Given the description of an element on the screen output the (x, y) to click on. 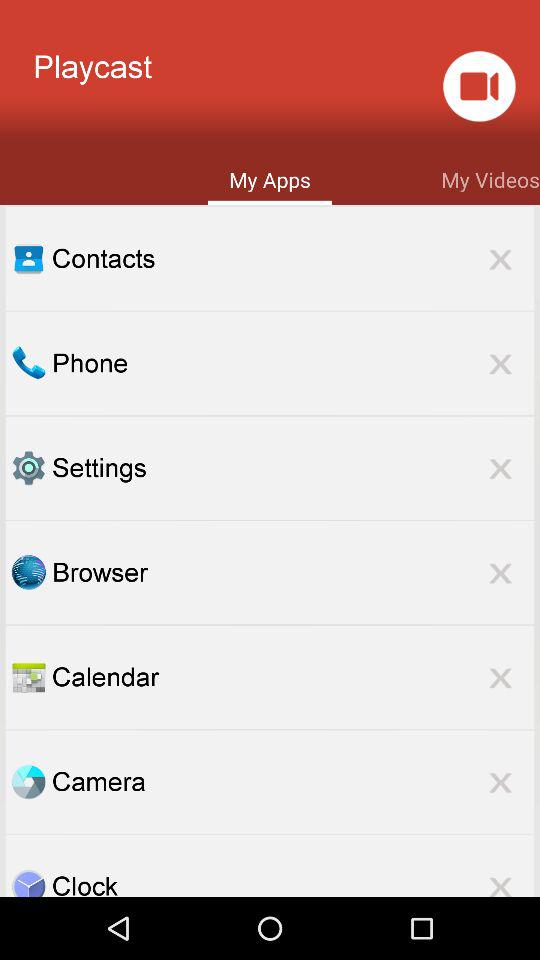
scroll until the settings item (293, 467)
